Given the description of an element on the screen output the (x, y) to click on. 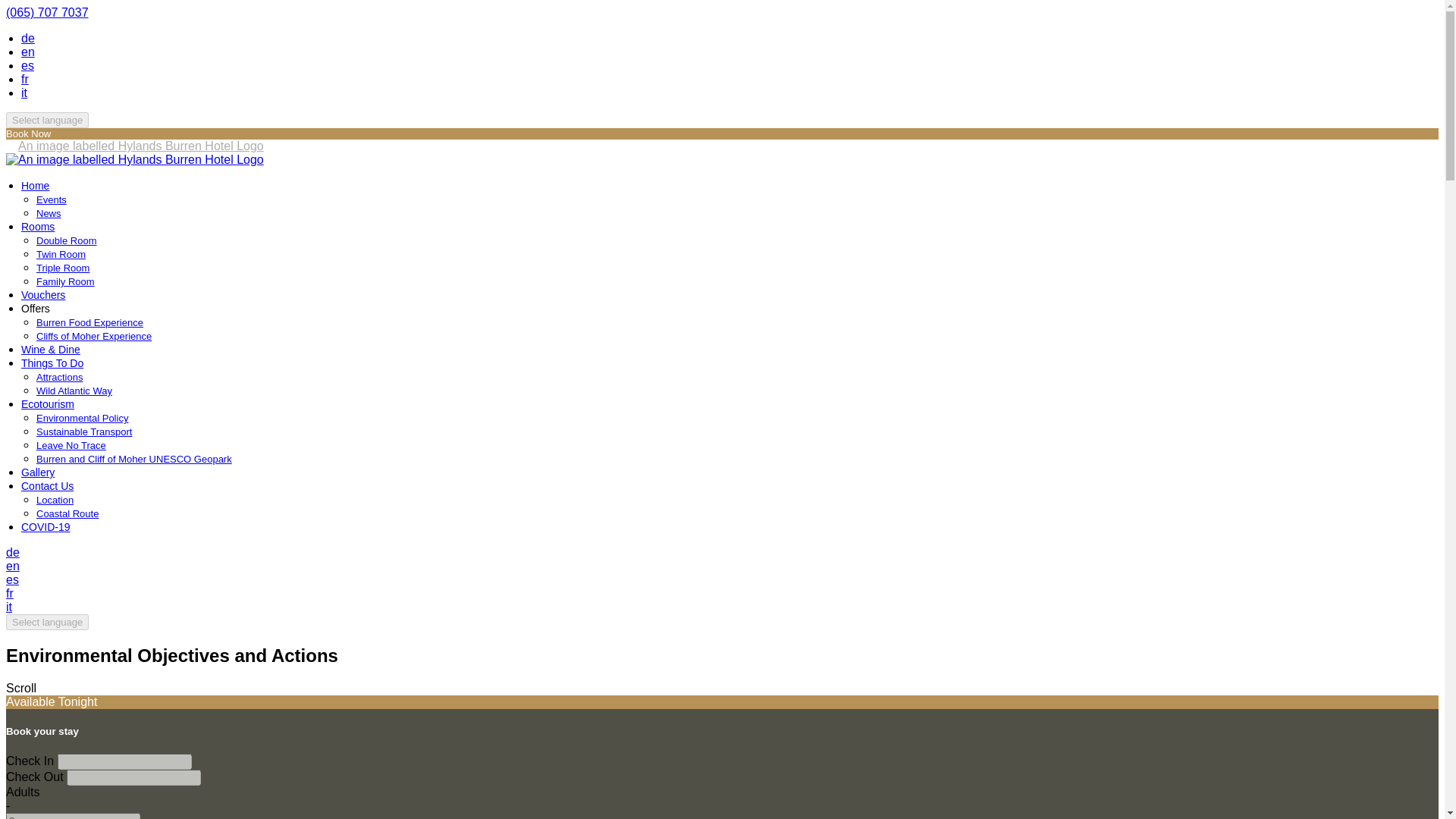
2 (72, 816)
Location (55, 500)
Family Room (65, 281)
Things To Do (51, 363)
es (27, 65)
en (12, 565)
News (48, 213)
Environmental Policy (82, 418)
Burren and Cliff of Moher UNESCO Geopark (133, 459)
Rooms (38, 226)
Wild Atlantic Way (74, 390)
Leave No Trace (71, 445)
Burren Food Experience (89, 322)
Twin Room (60, 254)
Gallery (38, 472)
